Given the description of an element on the screen output the (x, y) to click on. 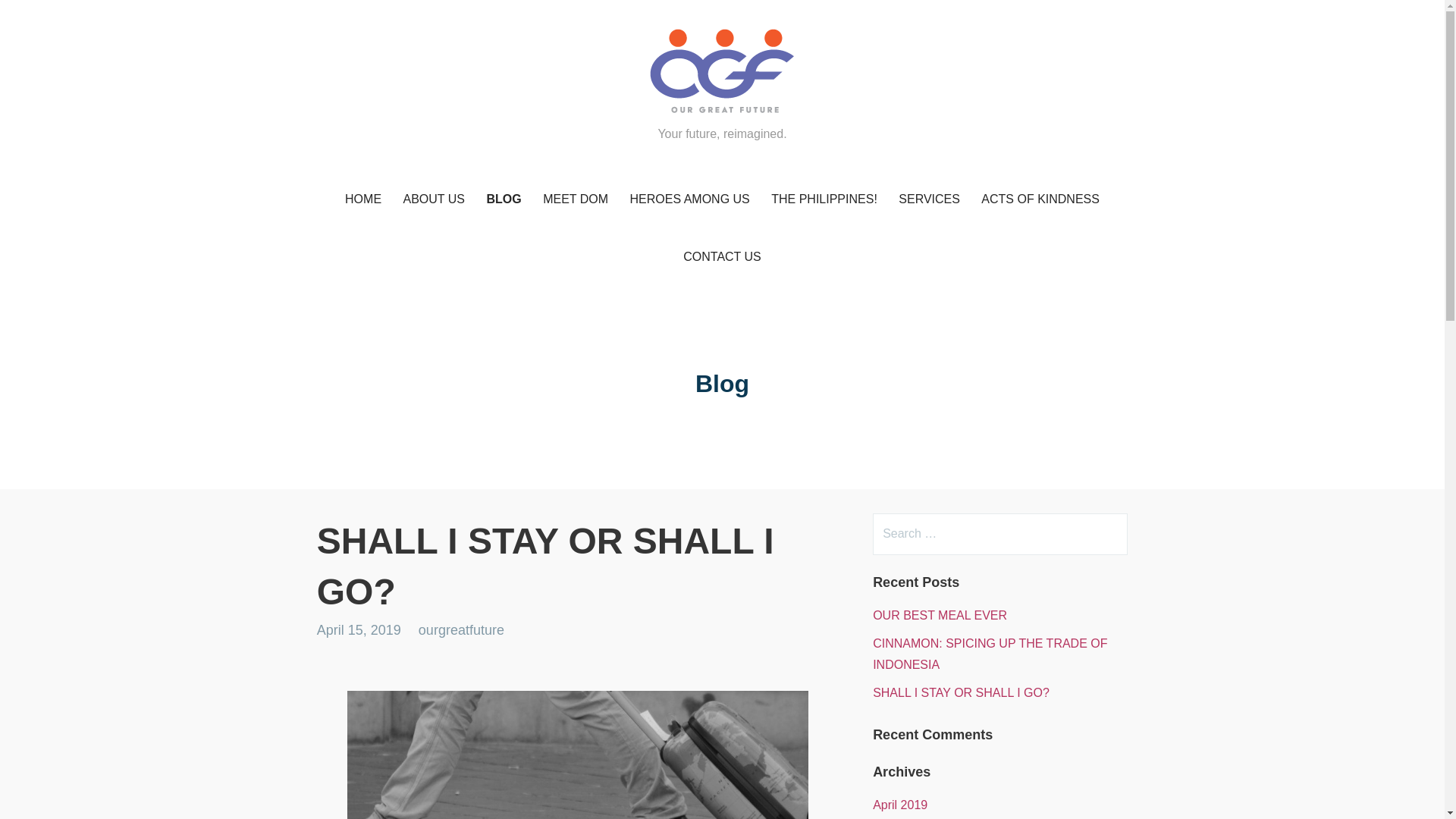
Posts by ourgreatfuture (461, 630)
April 2019 (899, 804)
CONTACT US (722, 257)
THE PHILIPPINES! (823, 199)
MEET DOM (575, 199)
Search (42, 18)
ourgreatfuture (461, 630)
SHALL I STAY OR SHALL I GO? (960, 692)
SERVICES (929, 199)
ACTS OF KINDNESS (1040, 199)
